Given the description of an element on the screen output the (x, y) to click on. 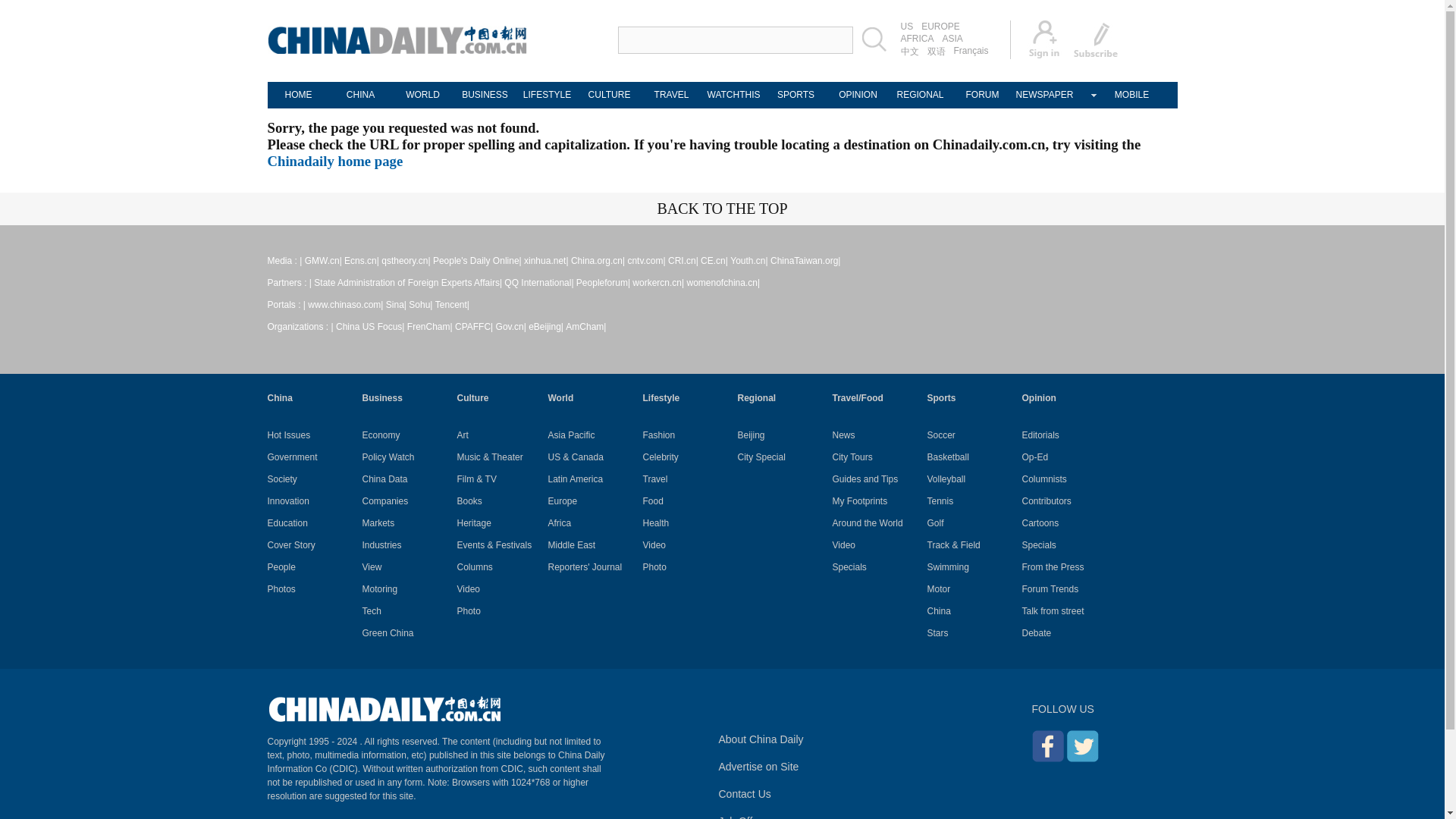
BUSINESS (483, 94)
Chinadaily home page (334, 160)
HOME (297, 94)
MOBILE (1131, 94)
AFRICA (917, 38)
NEWSPAPER (1044, 94)
LIFESTYLE (546, 94)
CHINA (360, 94)
REGIONAL (919, 94)
ASIA (952, 38)
